Given the description of an element on the screen output the (x, y) to click on. 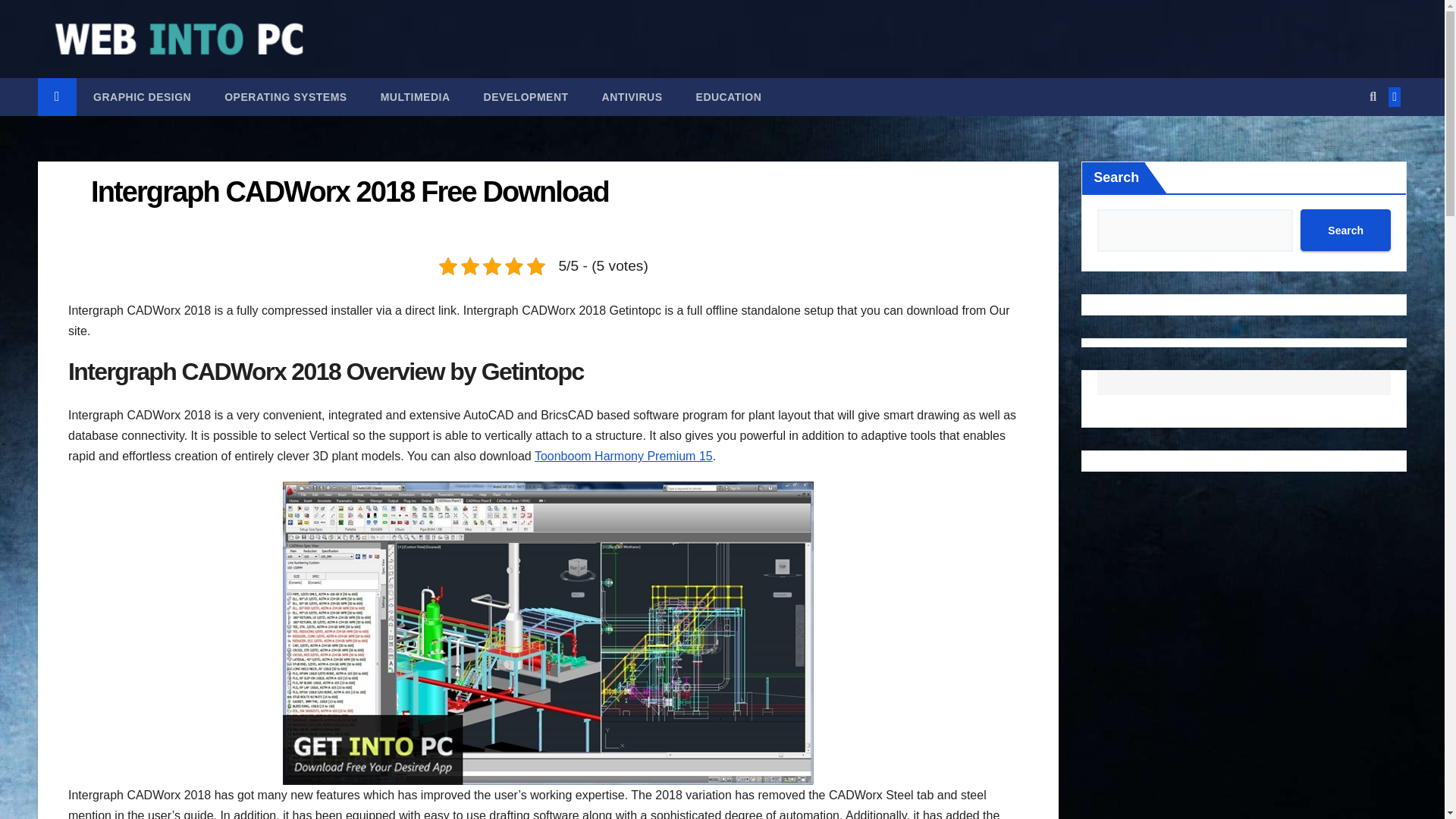
Graphic Design (142, 96)
DEVELOPMENT (526, 96)
Development (526, 96)
Education (728, 96)
MULTIMEDIA (415, 96)
Toonboom Harmony Premium 15 (623, 455)
Permalink to: Intergraph CADWorx 2018 Free Download (349, 192)
ANTIVIRUS (632, 96)
Multimedia (415, 96)
EDUCATION (728, 96)
